Given the description of an element on the screen output the (x, y) to click on. 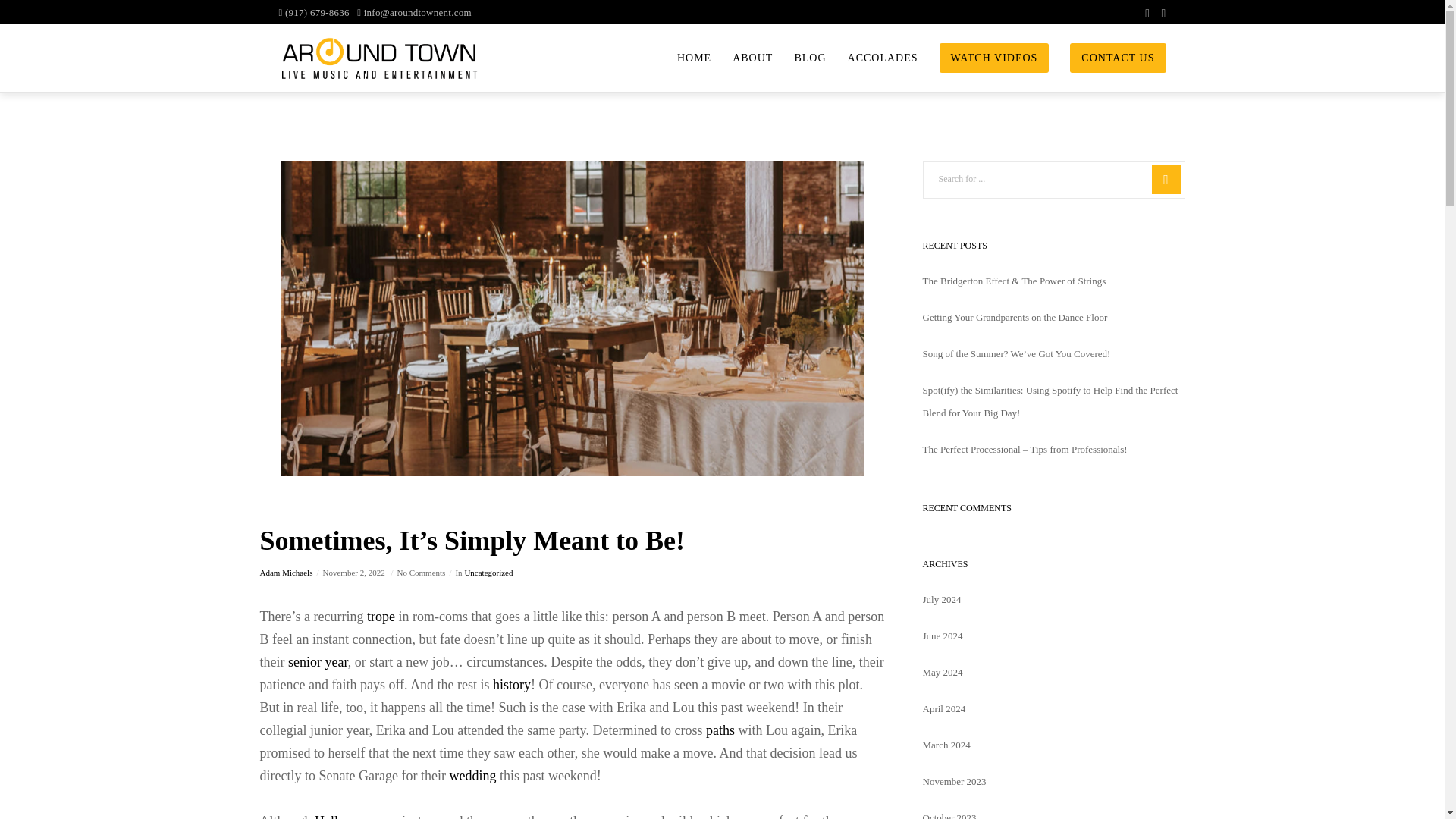
ABOUT (742, 58)
Uncategorized (488, 572)
Halloween (344, 816)
Adam Michaels (286, 572)
wedding (472, 775)
trope (380, 616)
senior year (317, 661)
CONTACT US (1107, 58)
history (512, 684)
paths (720, 729)
ACCOLADES (872, 58)
WATCH VIDEOS (983, 58)
